Given the description of an element on the screen output the (x, y) to click on. 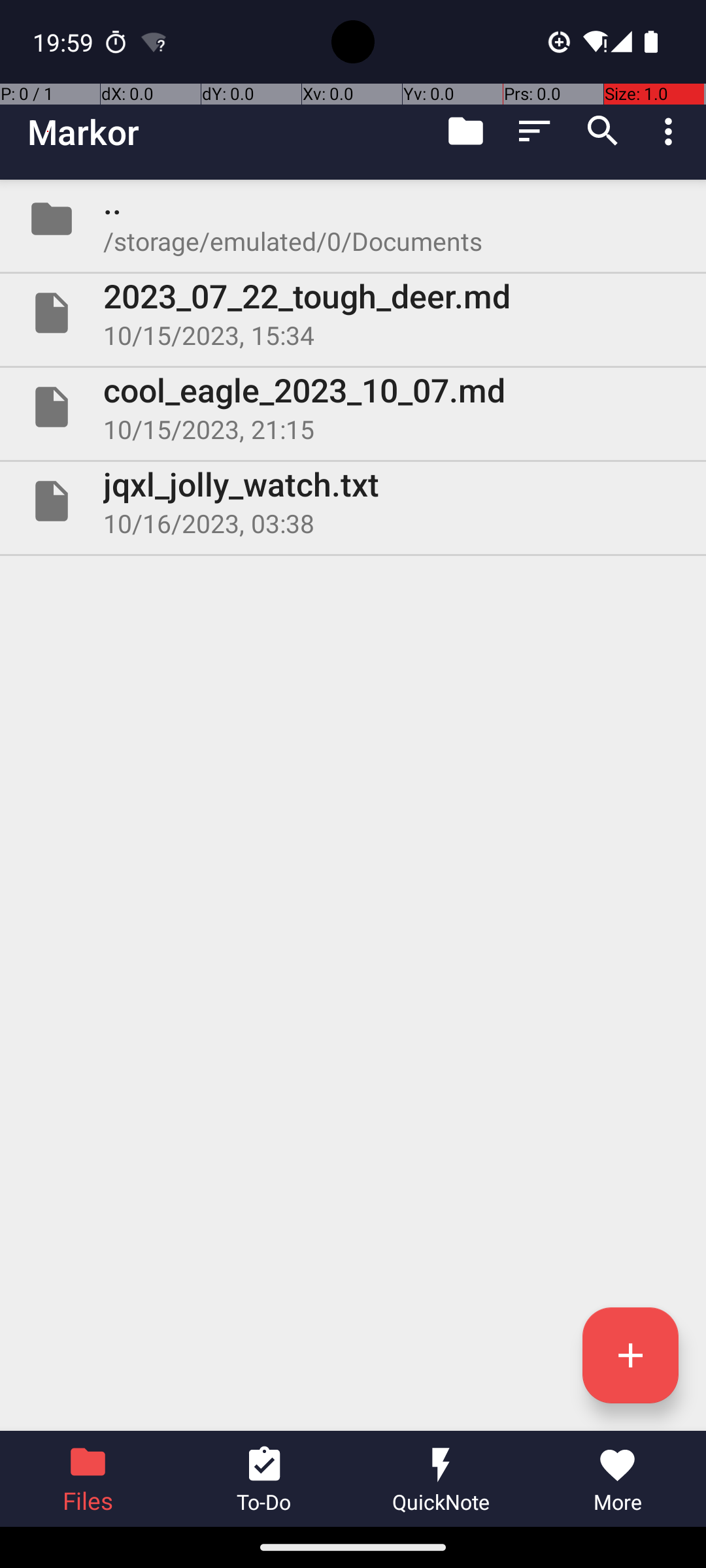
File 2023_07_22_tough_deer.md  Element type: android.widget.LinearLayout (353, 312)
File cool_eagle_2023_10_07.md  Element type: android.widget.LinearLayout (353, 406)
File jqxl_jolly_watch.txt  Element type: android.widget.LinearLayout (353, 500)
19:59 Element type: android.widget.TextView (64, 41)
